Given the description of an element on the screen output the (x, y) to click on. 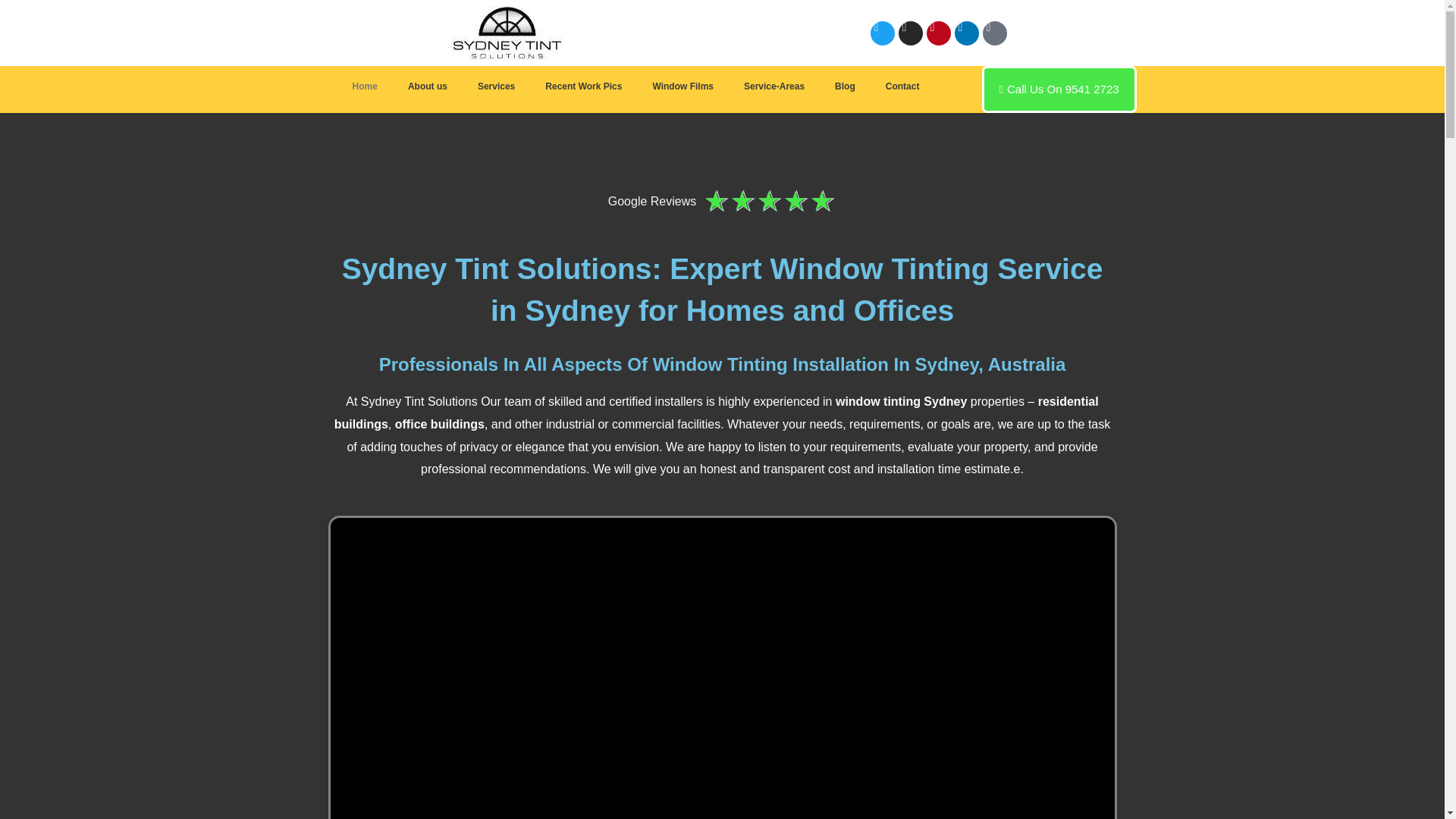
Blog (844, 86)
Pinterest (938, 33)
Services (496, 86)
About us (428, 86)
Home (365, 86)
Instagram (909, 33)
Map (994, 33)
Recent Work Pics (583, 86)
Twitter (882, 33)
Window Films (683, 86)
Service-Areas (774, 86)
Linkedin (965, 33)
